Given the description of an element on the screen output the (x, y) to click on. 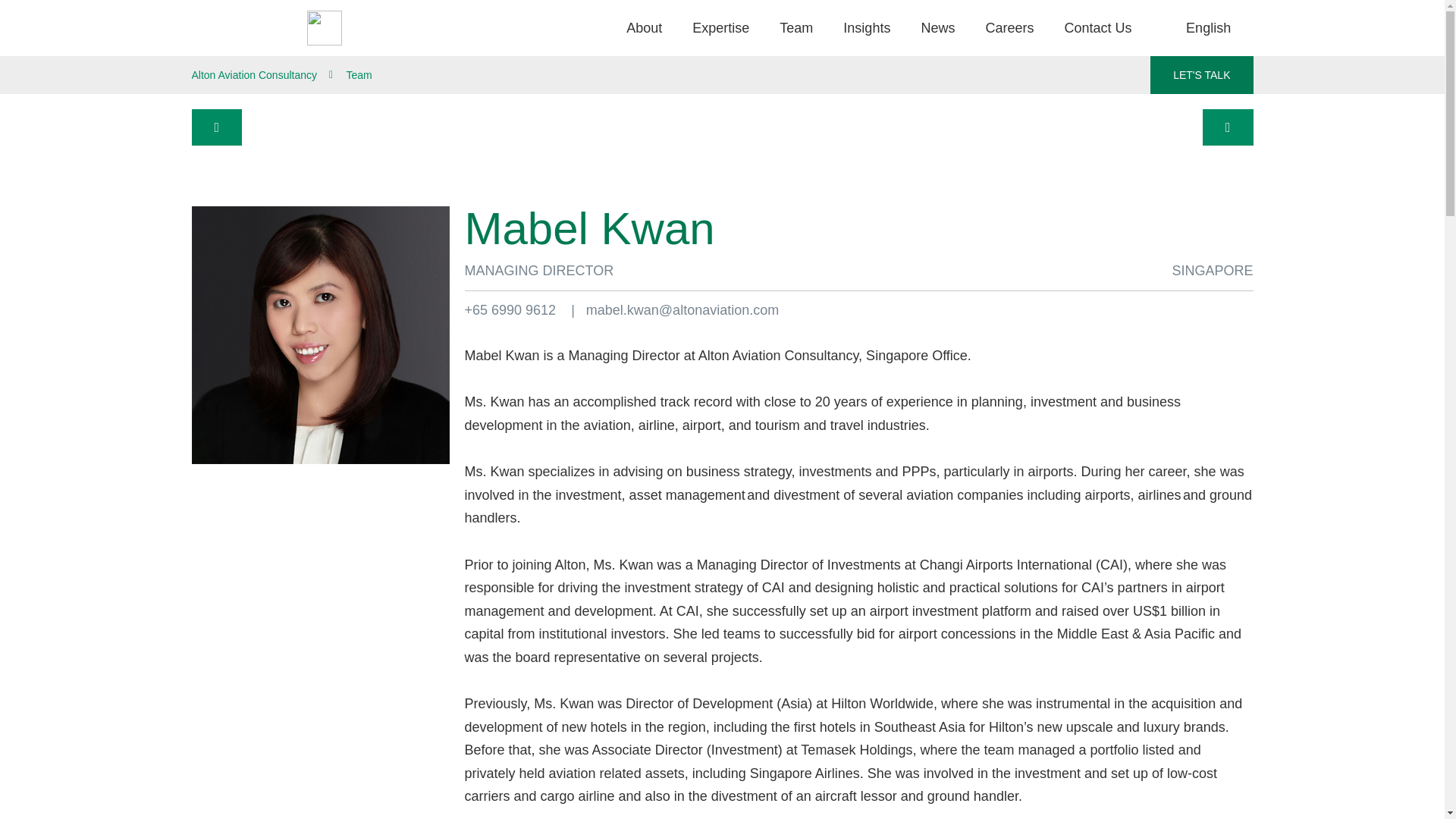
Team (796, 27)
Expertise (720, 27)
Careers (1008, 27)
About (644, 27)
English (1208, 27)
Contact Us (1097, 27)
Insights (866, 27)
News (937, 27)
